Given the description of an element on the screen output the (x, y) to click on. 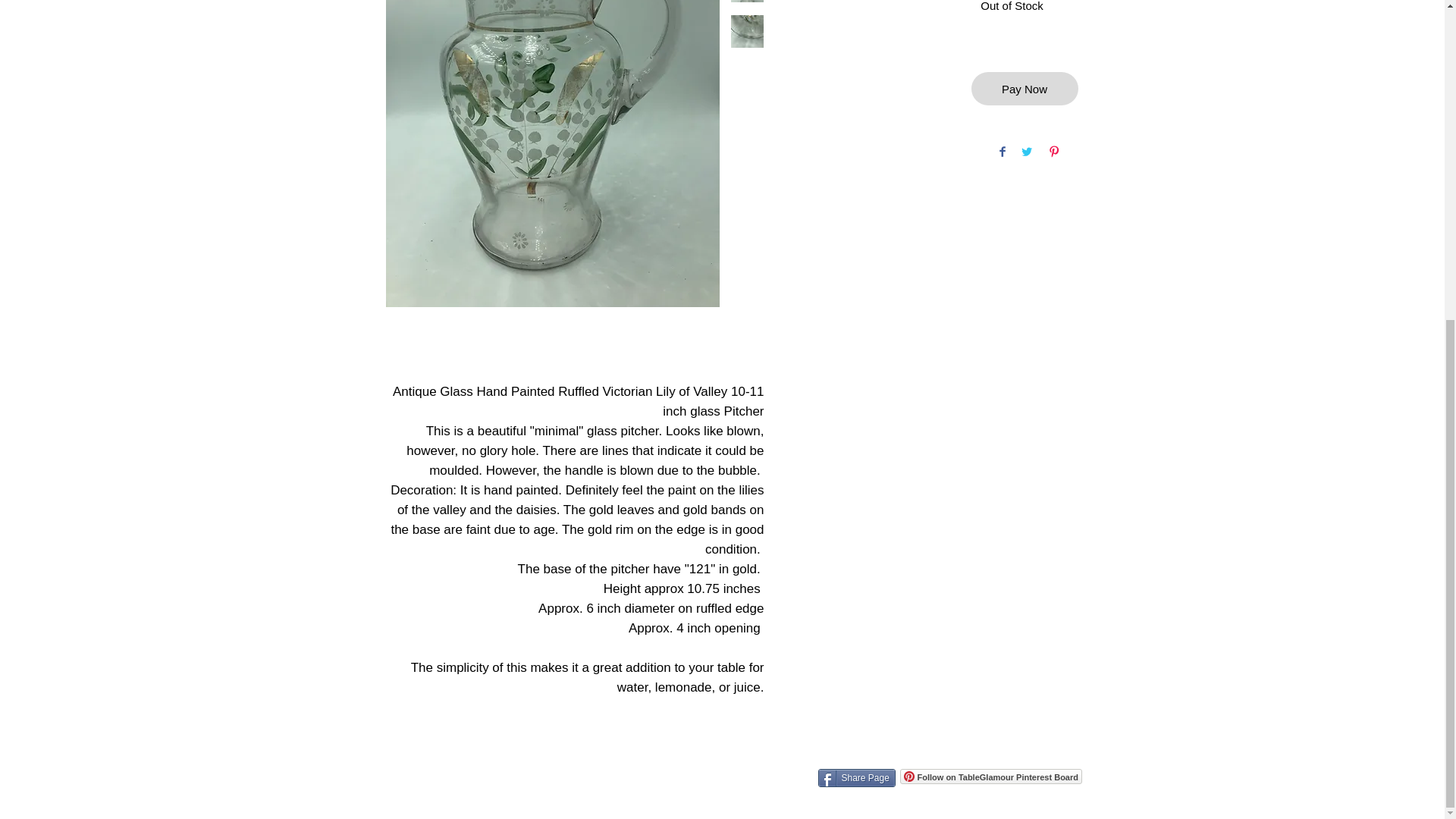
Twitter Follow (974, 749)
Follow on TableGlamour Pinterest Board (990, 776)
Share Page (855, 778)
